Given the description of an element on the screen output the (x, y) to click on. 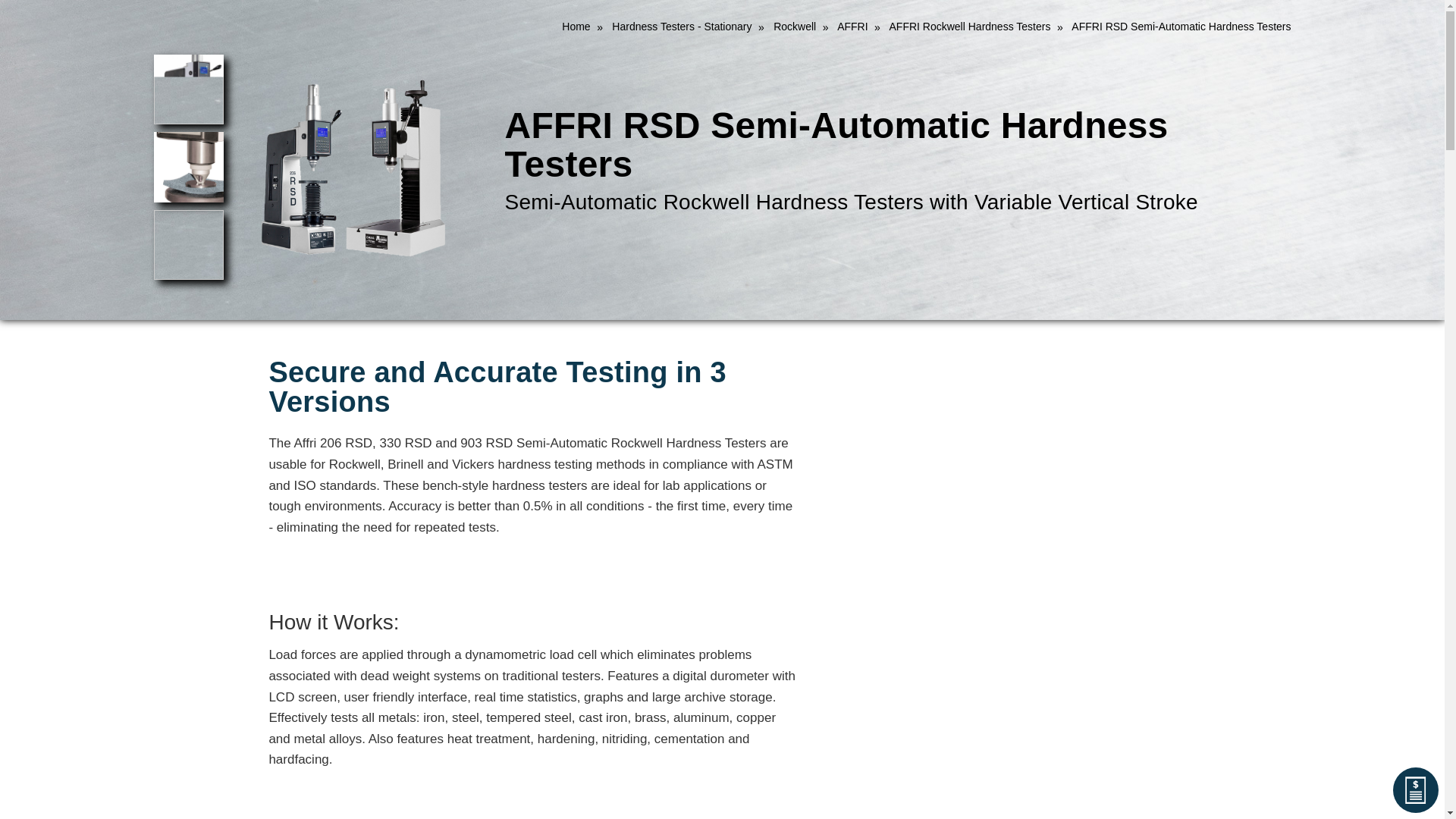
AFFRI RSD Semi-Automatic Hardness Testers (353, 167)
Home (575, 26)
Rockwell (794, 26)
AFFRI (852, 26)
AFFRI Rockwell Hardness Testers (968, 26)
Hardness Testers - Stationary (681, 26)
